Given the description of an element on the screen output the (x, y) to click on. 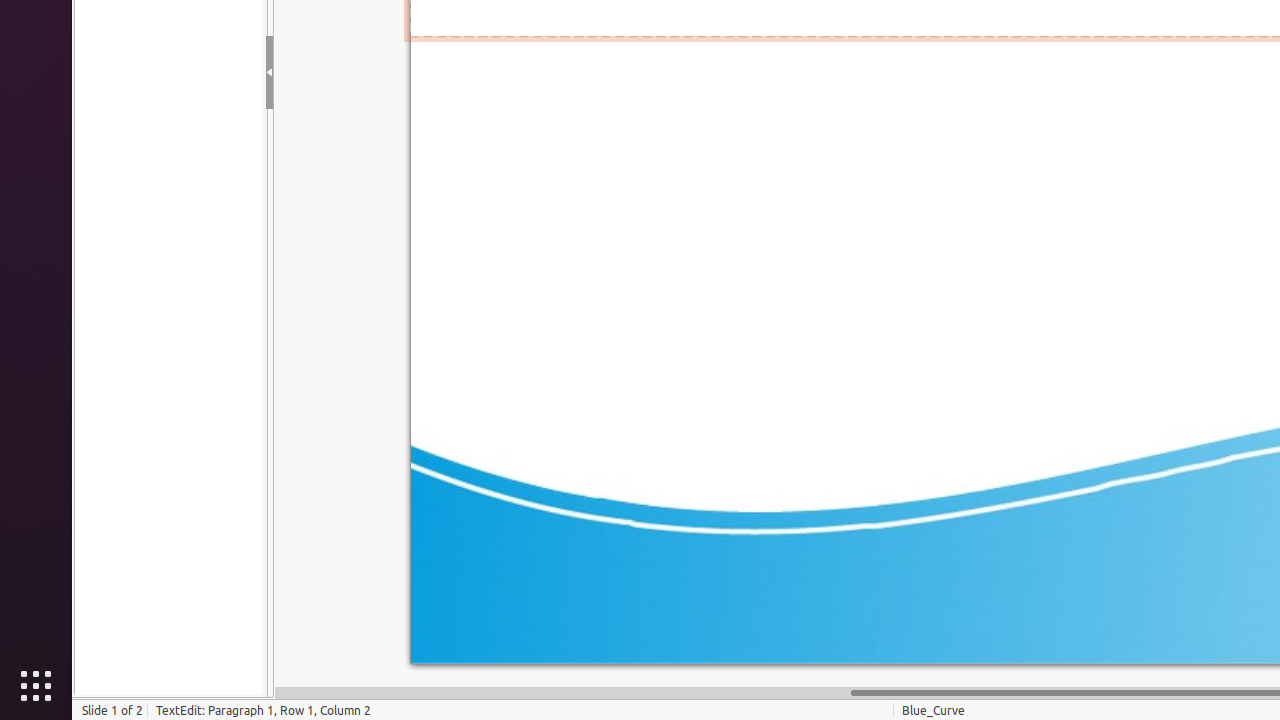
Show Applications Element type: toggle-button (36, 686)
